Given the description of an element on the screen output the (x, y) to click on. 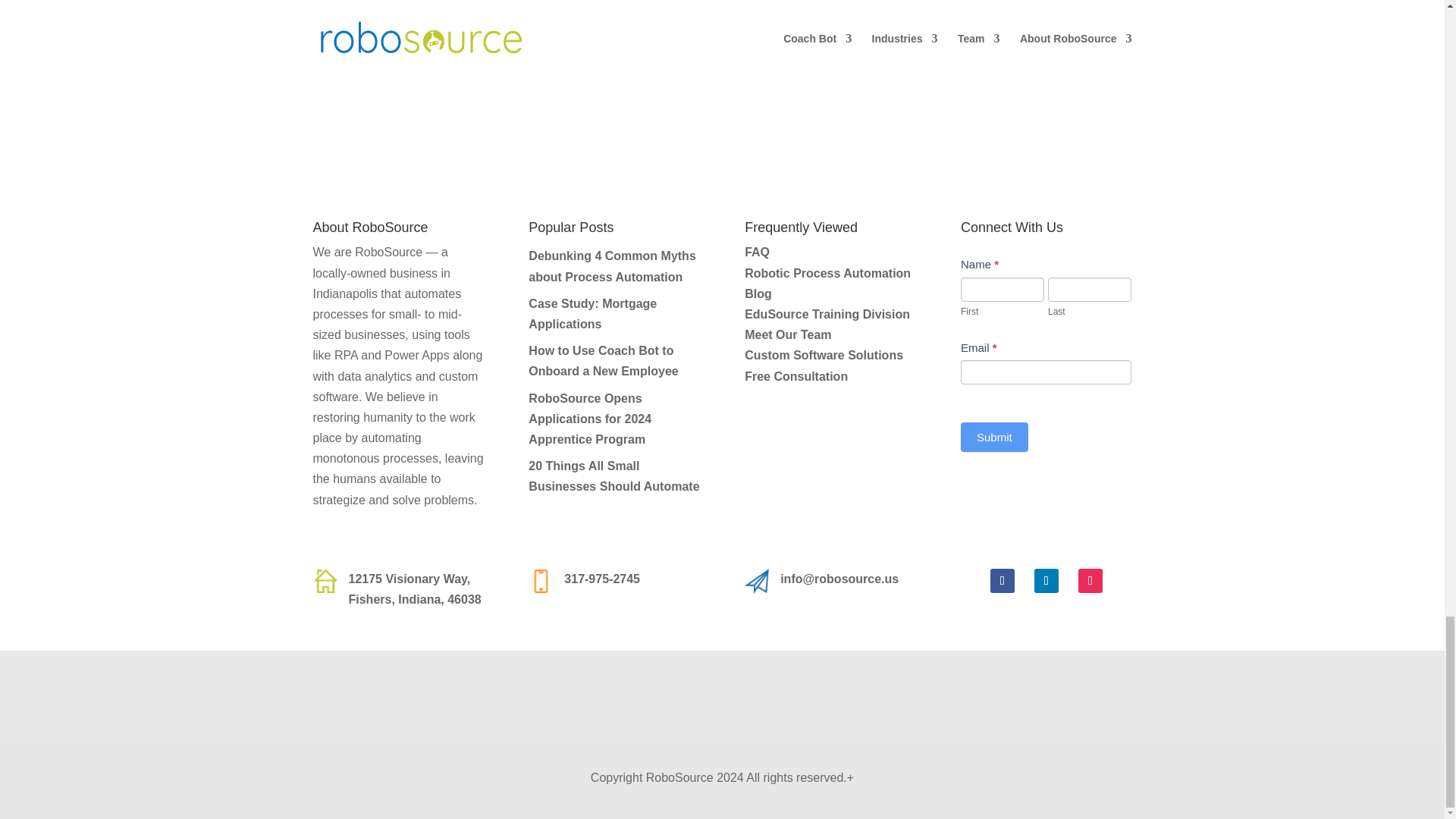
Follow on LinkedIn (1045, 580)
Follow on Instagram (1090, 580)
Submit Comment (1064, 32)
Follow on Facebook (1002, 580)
